Given the description of an element on the screen output the (x, y) to click on. 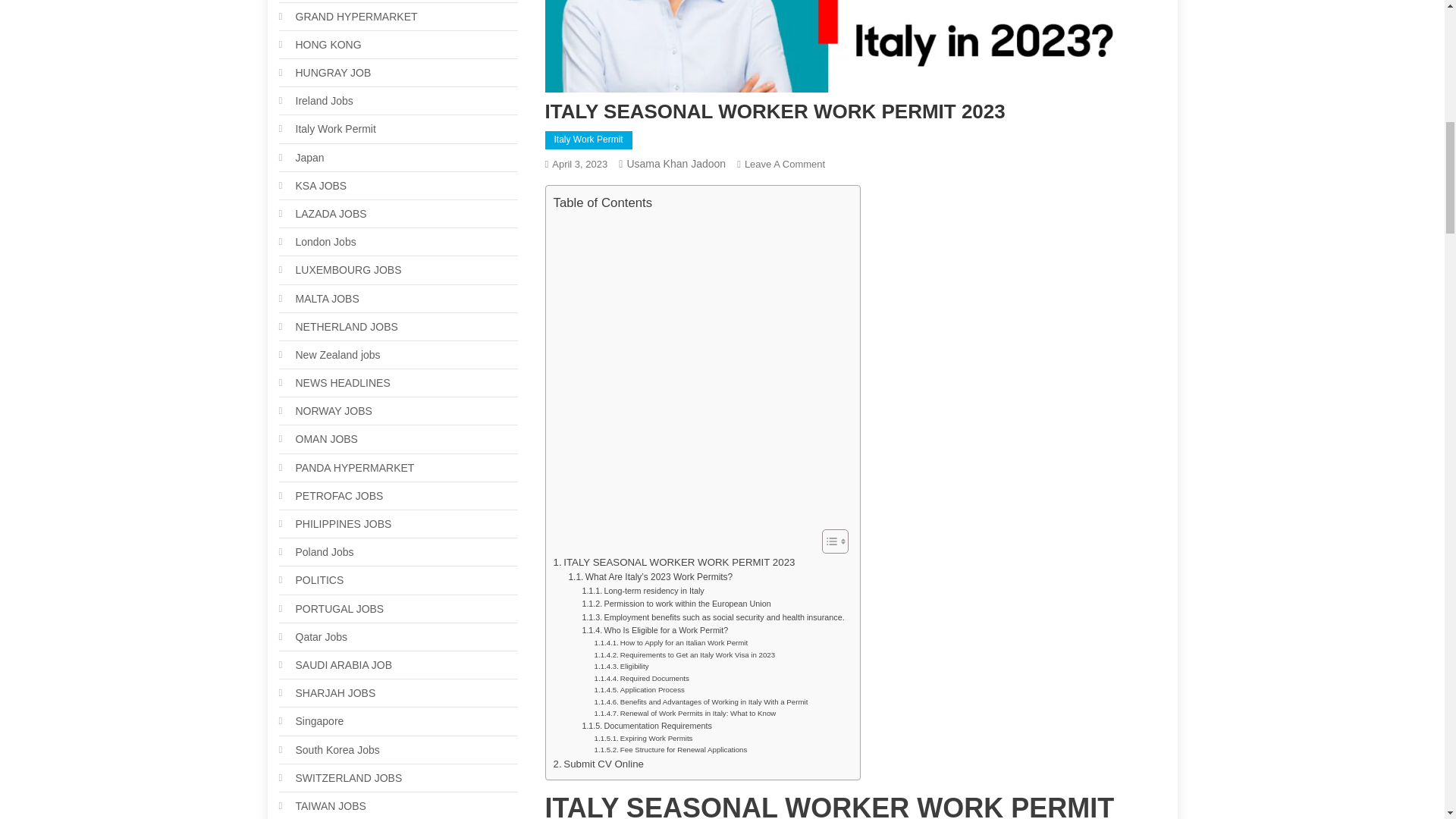
ITALY SEASONAL WORKER WORK PERMIT 2023 (673, 562)
How to Apply for an Italian Work Permit (671, 643)
ITALY SEASONAL WORKER WORK PERMIT 2023 (673, 562)
Permission to work within the European Union (784, 163)
Usama Khan Jadoon (675, 603)
Permission to work within the European Union (675, 163)
How to Apply for an Italian Work Permit (675, 603)
Required Documents (671, 643)
Long-term residency in Italy (641, 678)
